Given the description of an element on the screen output the (x, y) to click on. 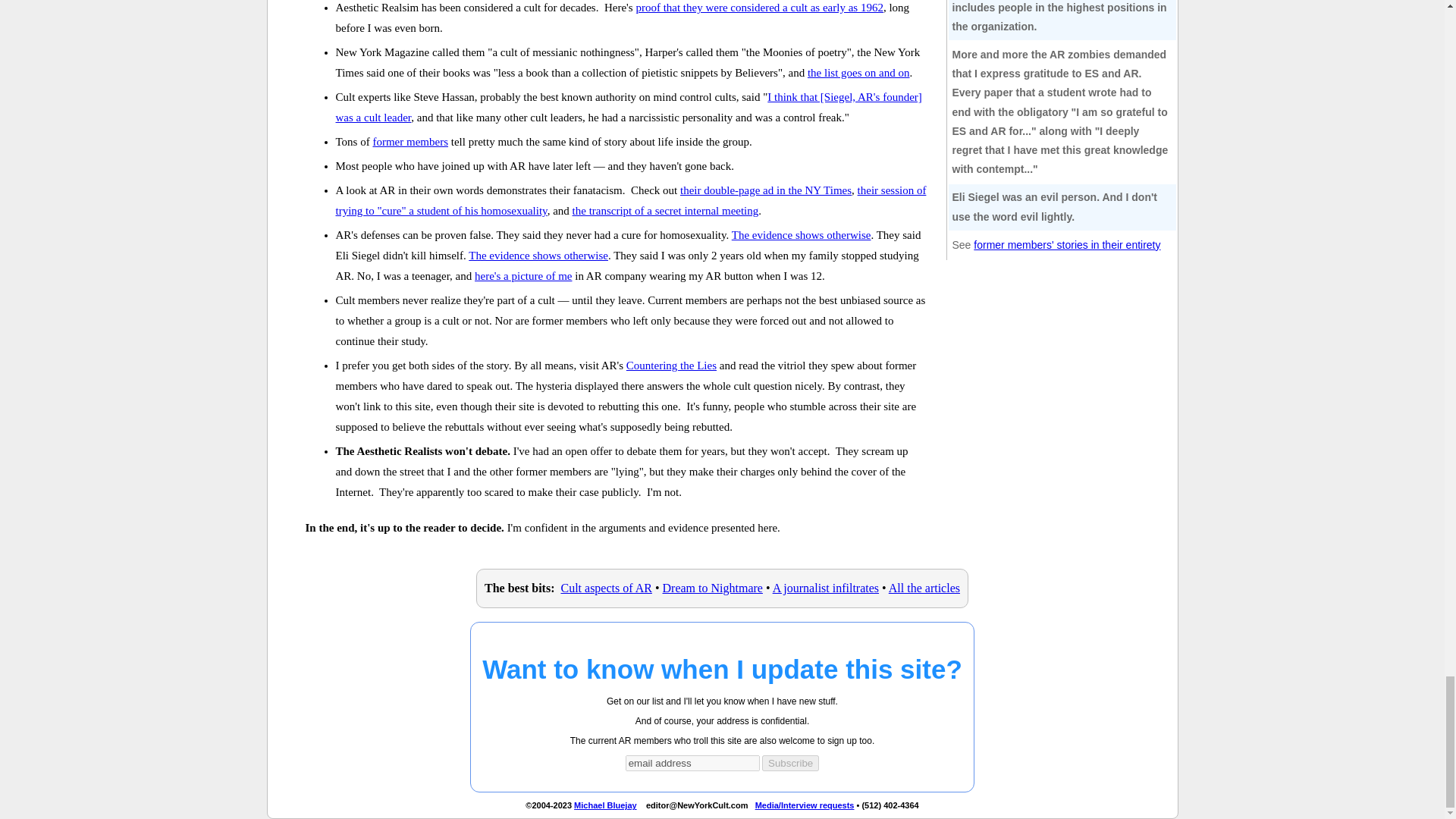
email address (693, 763)
Subscribe (789, 763)
